Given the description of an element on the screen output the (x, y) to click on. 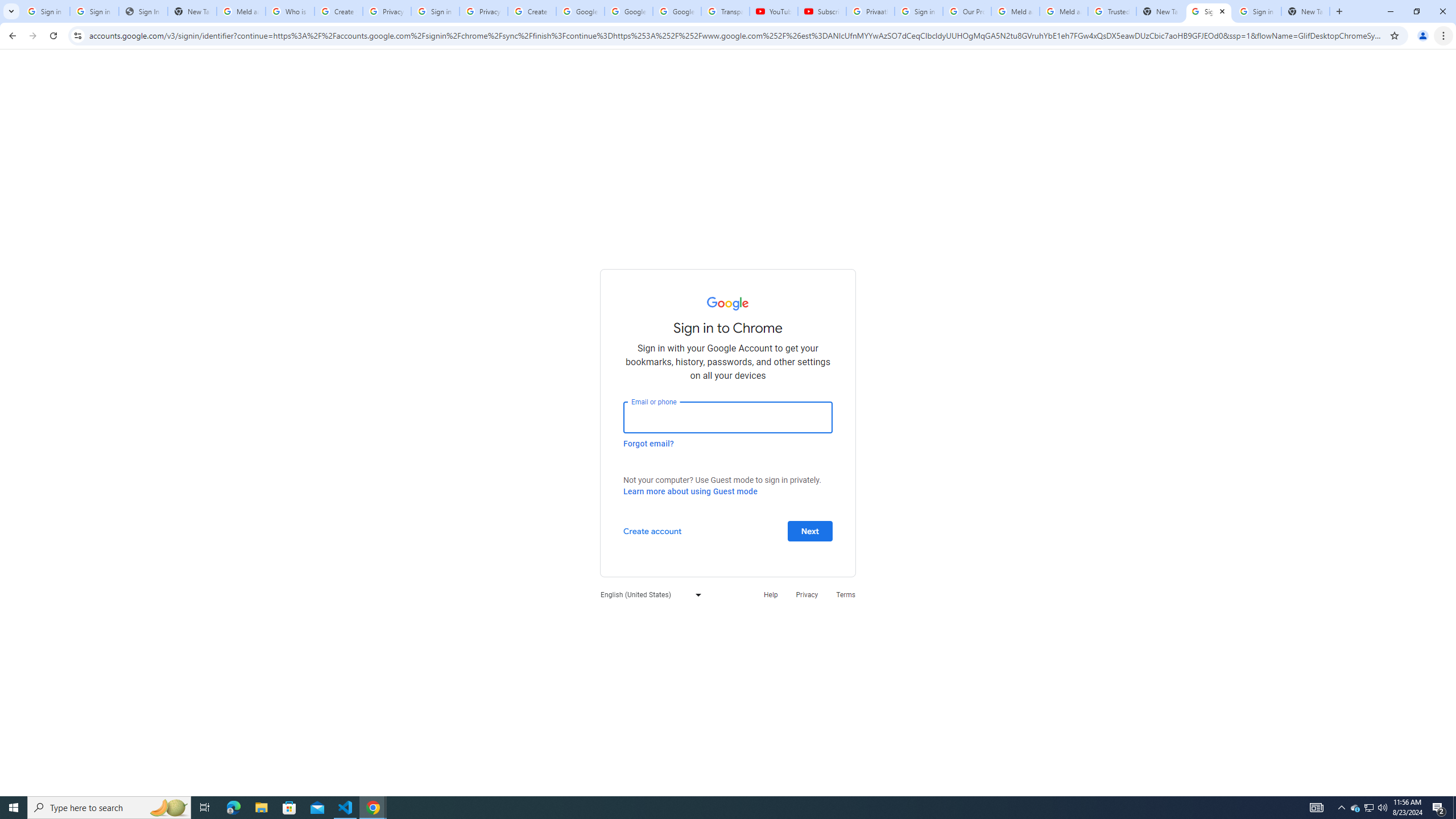
YouTube (773, 11)
Create account (651, 530)
New Tab (1305, 11)
Create your Google Account (338, 11)
Next (809, 530)
Create your Google Account (532, 11)
Sign in - Google Accounts (918, 11)
